Given the description of an element on the screen output the (x, y) to click on. 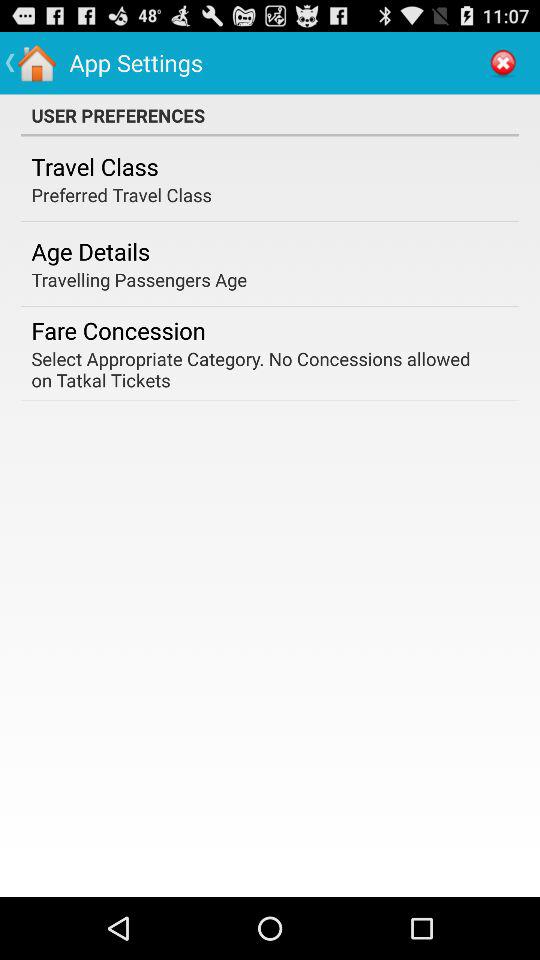
flip until age details (90, 251)
